Given the description of an element on the screen output the (x, y) to click on. 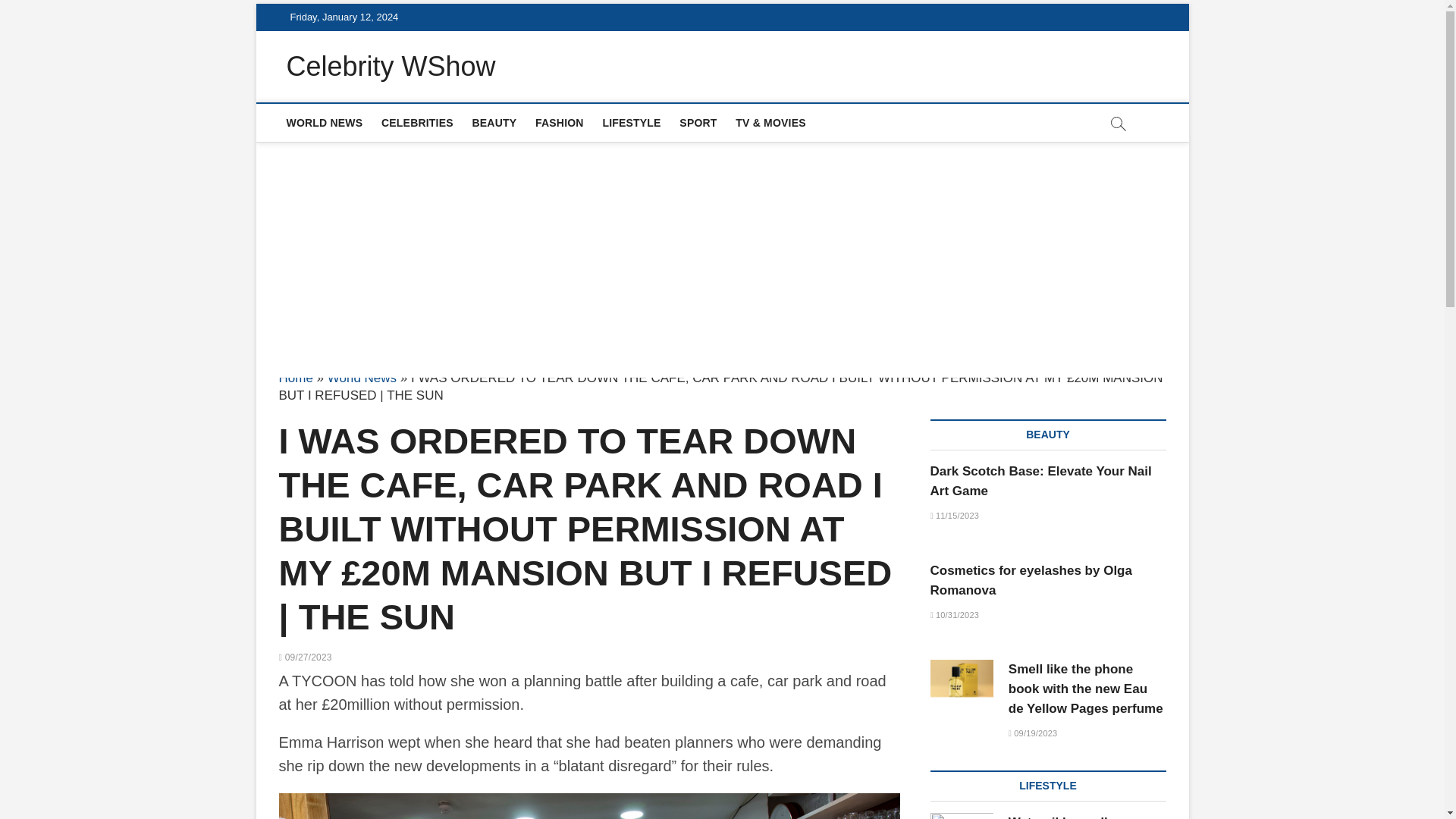
Home (296, 377)
Cosmetics for eyelashes by Olga Romanova (1030, 580)
Celebrity WShow (391, 66)
Cosmetics for eyelashes by Olga Romanova (1030, 580)
WORLD NEWS (325, 122)
SPORT (697, 122)
BEAUTY (494, 122)
